Given the description of an element on the screen output the (x, y) to click on. 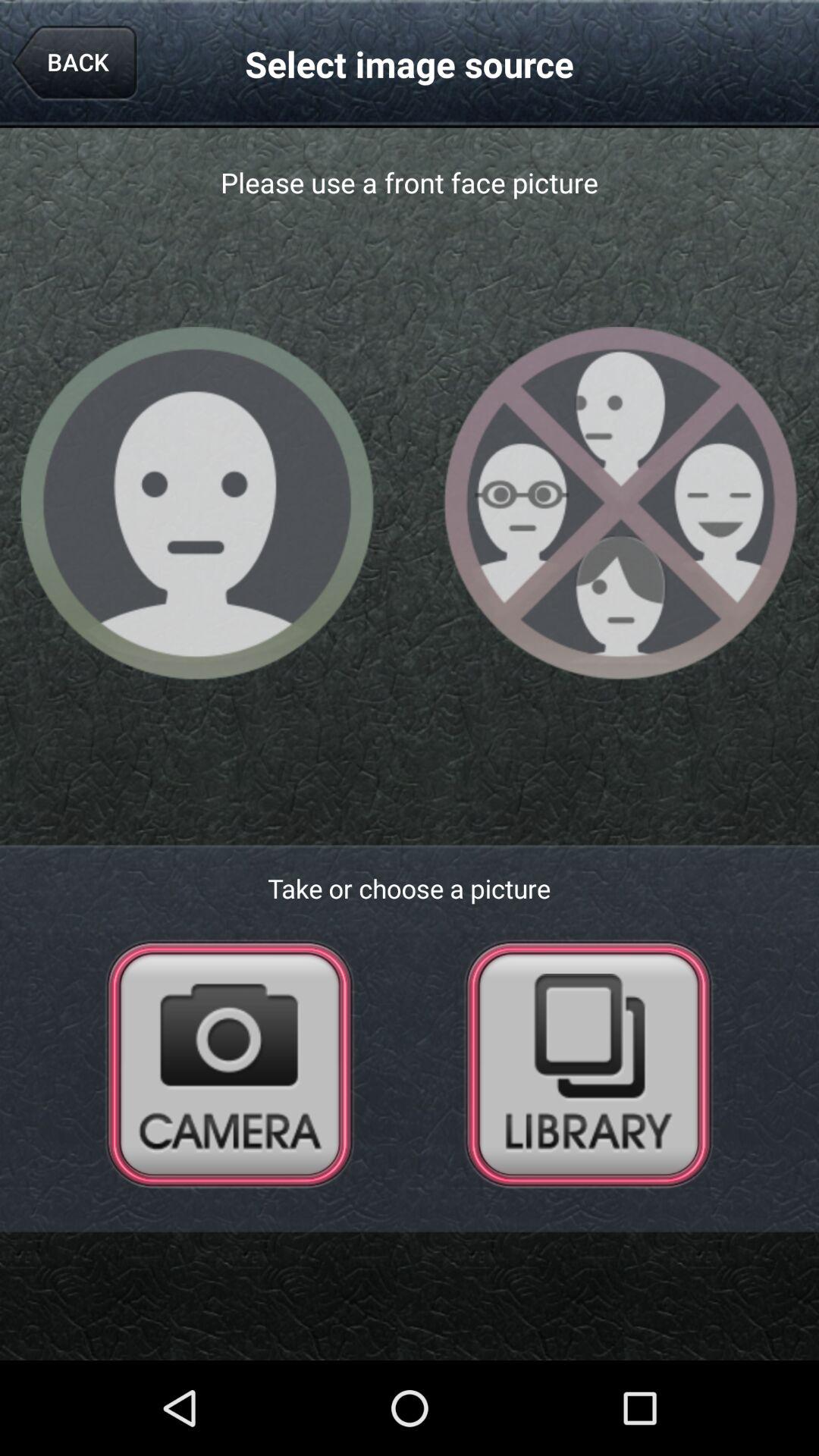
access camera library (588, 1063)
